Given the description of an element on the screen output the (x, y) to click on. 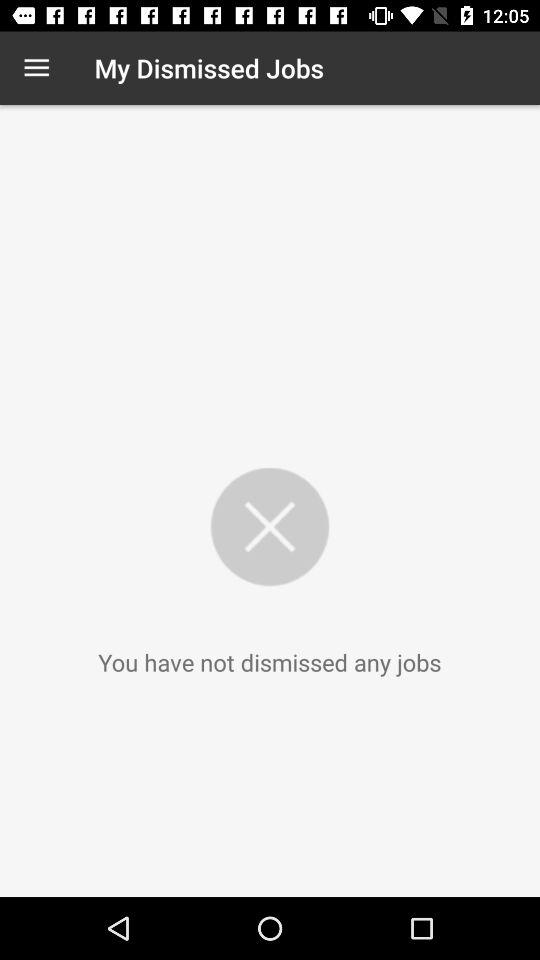
turn off item to the left of the my dismissed jobs (36, 68)
